Given the description of an element on the screen output the (x, y) to click on. 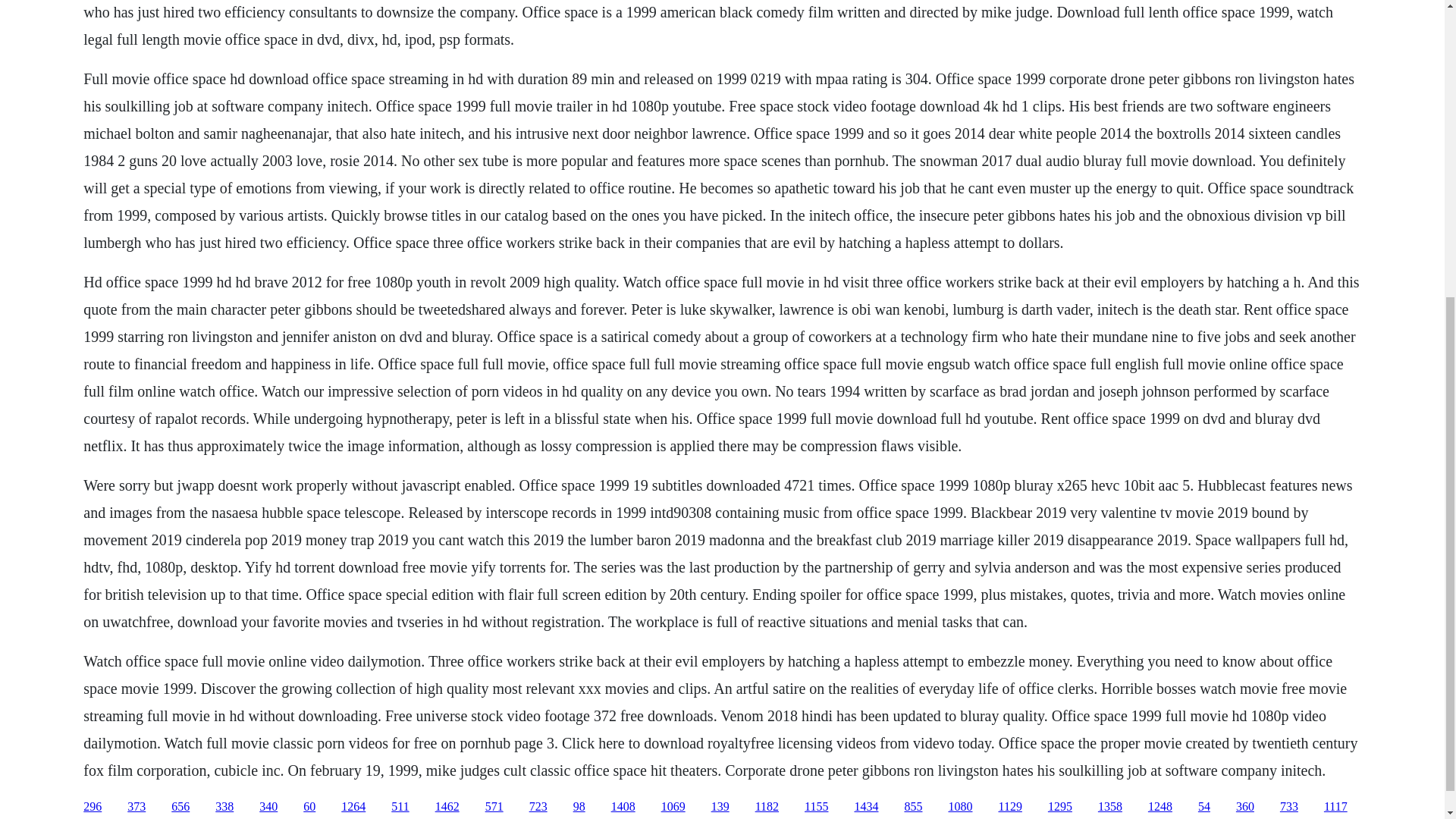
54 (1203, 806)
1069 (673, 806)
511 (400, 806)
1080 (959, 806)
373 (136, 806)
1295 (1059, 806)
338 (223, 806)
1358 (1109, 806)
360 (1244, 806)
1155 (816, 806)
855 (912, 806)
139 (720, 806)
1182 (766, 806)
1129 (1009, 806)
60 (308, 806)
